Given the description of an element on the screen output the (x, y) to click on. 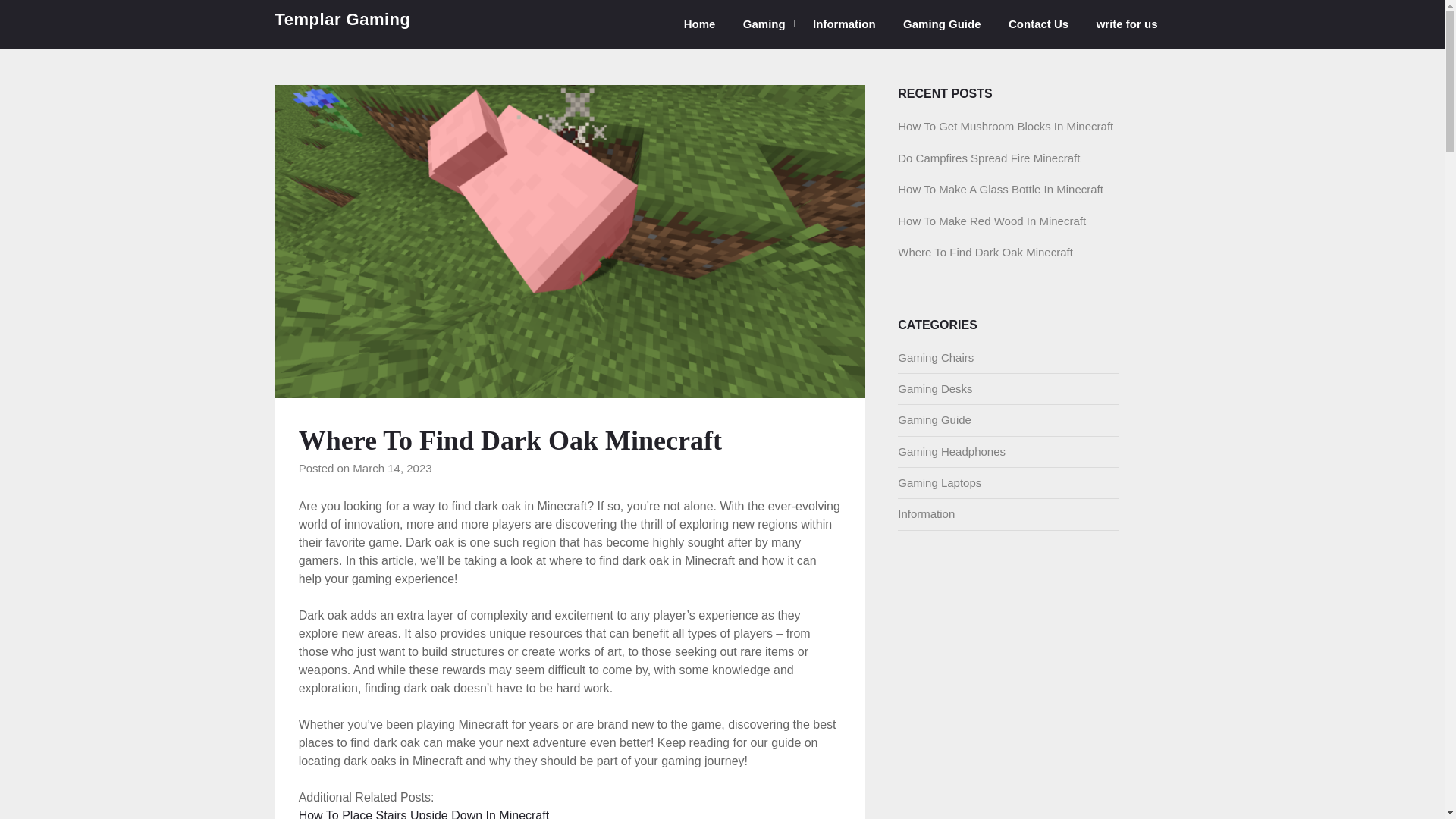
Gaming Headphones (952, 451)
How To Make Red Wood In Minecraft (992, 219)
Templar Gaming (342, 19)
Information (844, 24)
Home (699, 24)
Gaming Guide (934, 419)
Contact Us (1037, 24)
How To Get Mushroom Blocks In Minecraft (1005, 125)
Gaming Chairs (936, 357)
write for us (1127, 24)
Do Campfires Spread Fire Minecraft (989, 157)
Information (926, 513)
Gaming Laptops (939, 481)
Gaming (763, 24)
How To Make A Glass Bottle In Minecraft (1000, 188)
